Given the description of an element on the screen output the (x, y) to click on. 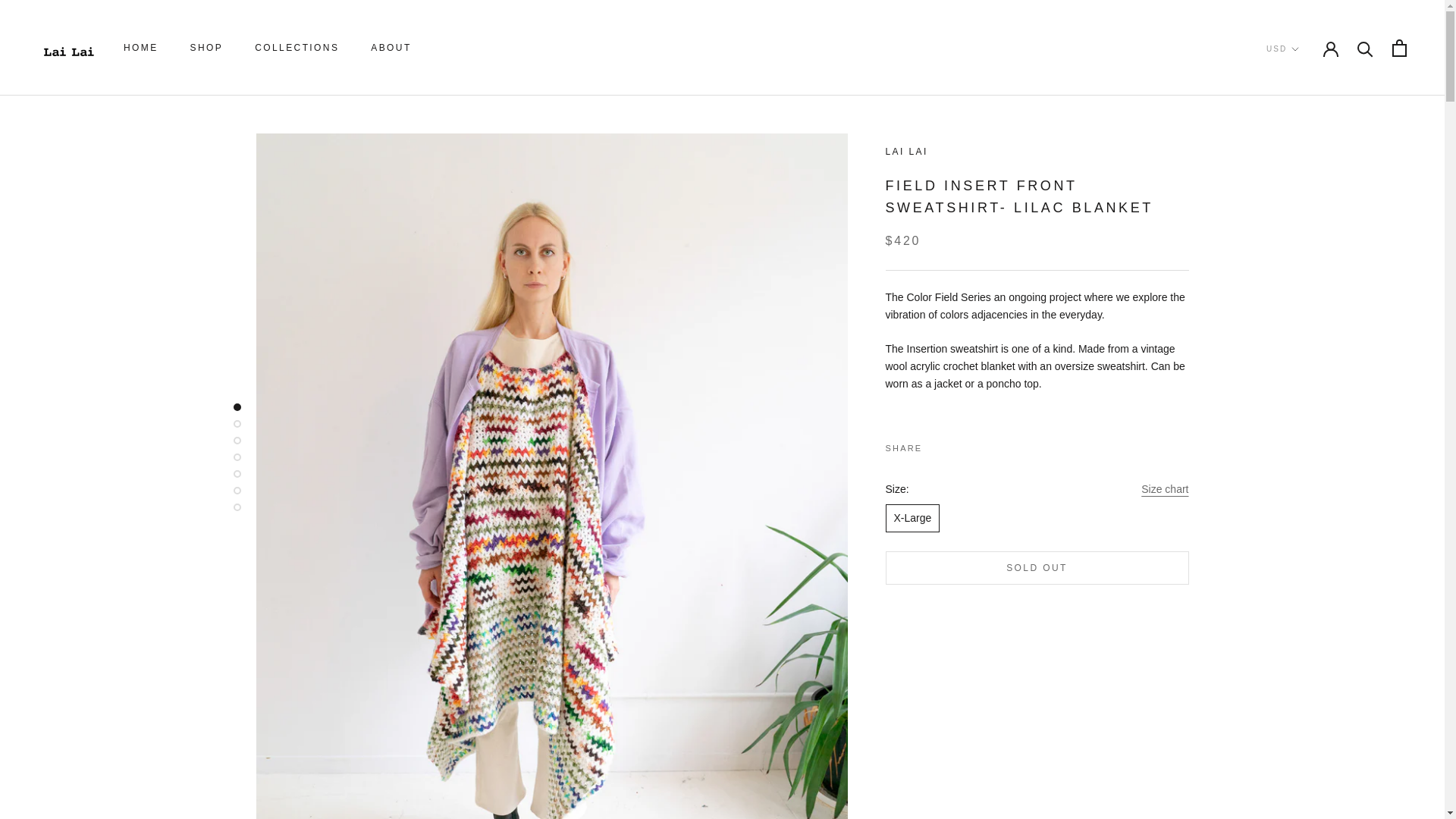
Currency selector (1282, 49)
SHOP (140, 47)
